Given the description of an element on the screen output the (x, y) to click on. 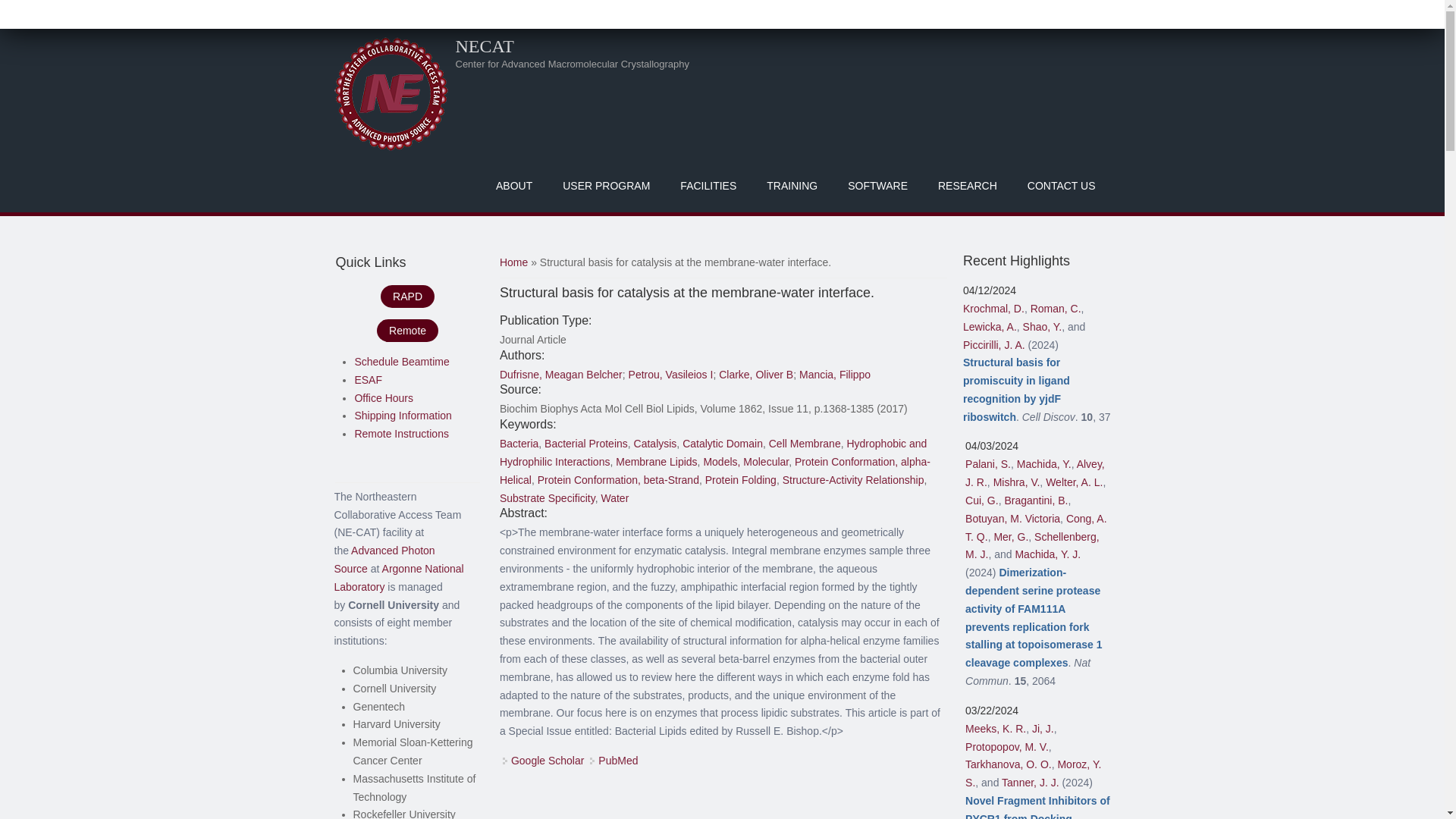
USER PROGRAM (606, 185)
Home (389, 93)
ABOUT (513, 185)
Home (483, 45)
NECAT (483, 45)
